Given the description of an element on the screen output the (x, y) to click on. 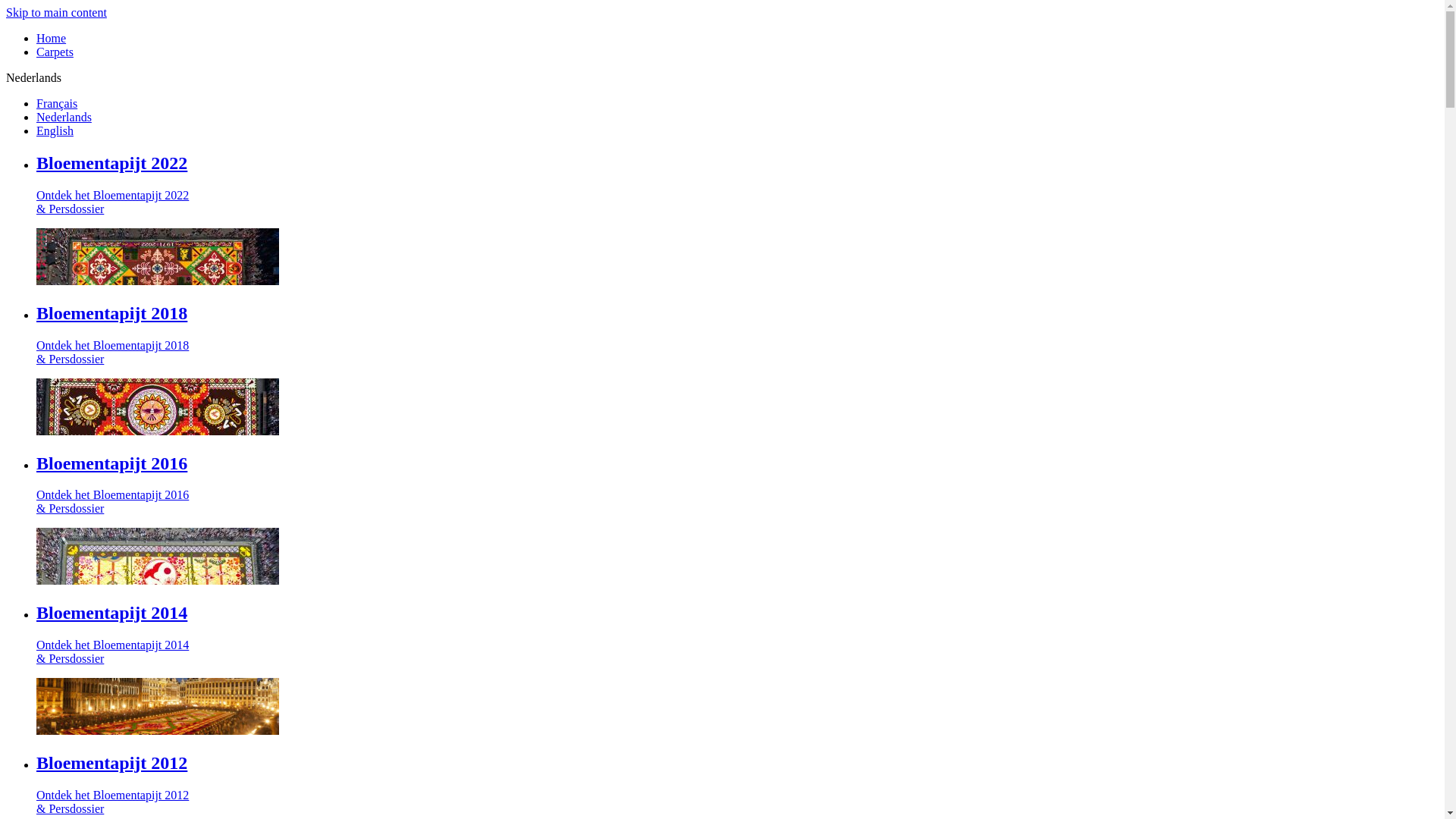
Skip to main content Element type: text (56, 12)
English Element type: text (54, 130)
Nederlands Element type: text (63, 116)
Carpets Element type: text (54, 51)
Home Element type: text (50, 37)
